Given the description of an element on the screen output the (x, y) to click on. 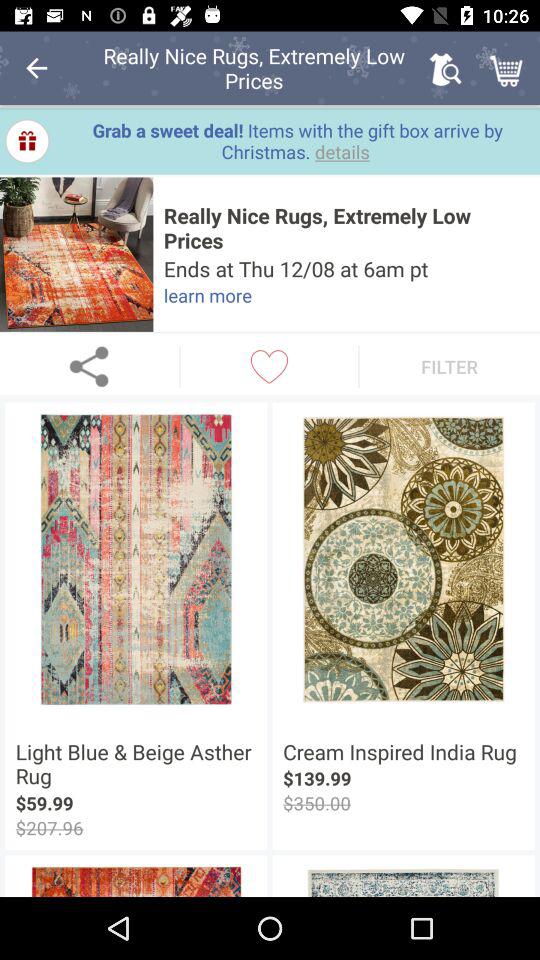
share to other (89, 366)
